Given the description of an element on the screen output the (x, y) to click on. 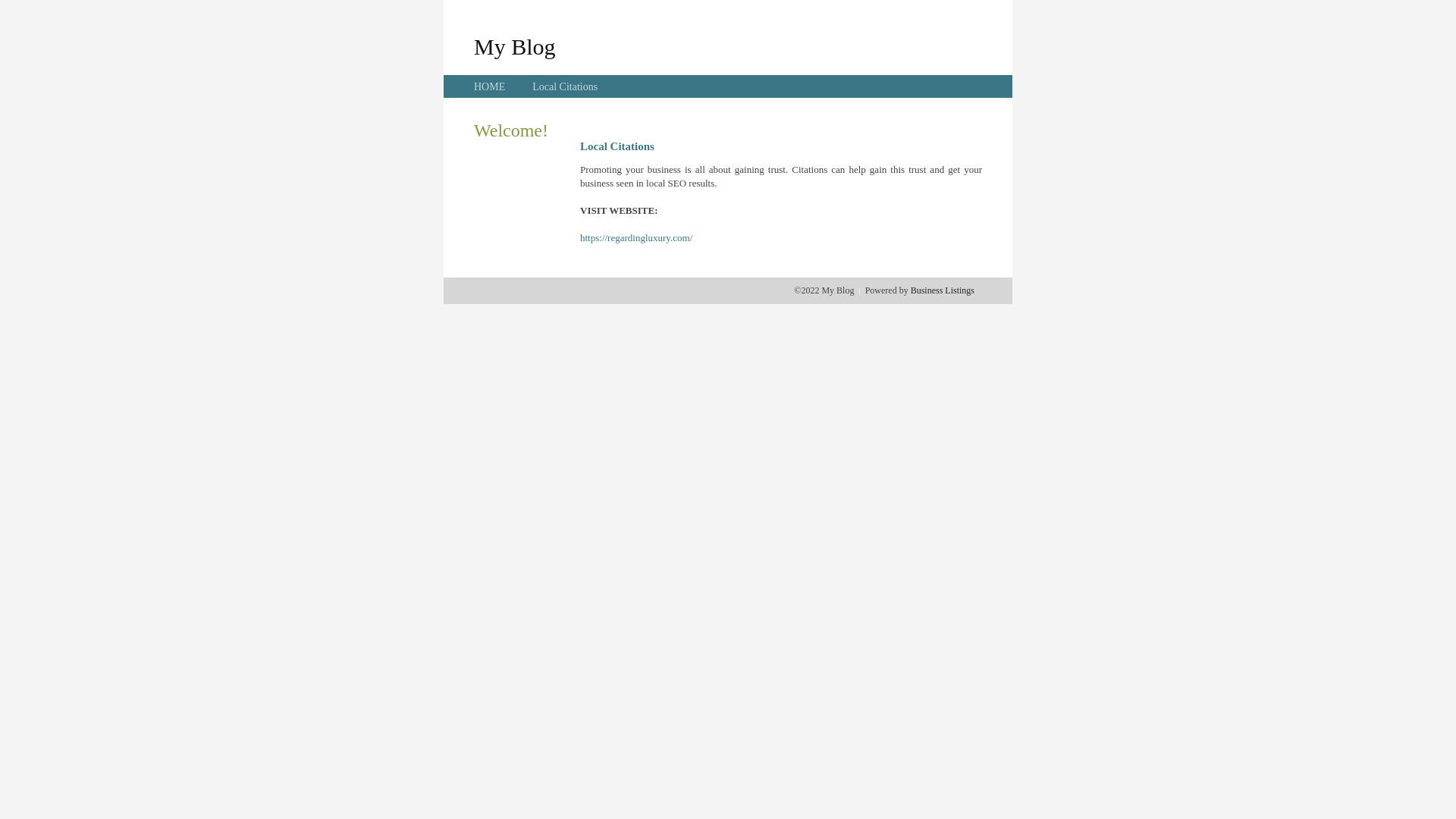
HOME Element type: text (489, 86)
Local Citations Element type: text (564, 86)
My Blog Element type: text (514, 46)
https://regardingluxury.com/ Element type: text (636, 237)
Business Listings Element type: text (942, 290)
